Given the description of an element on the screen output the (x, y) to click on. 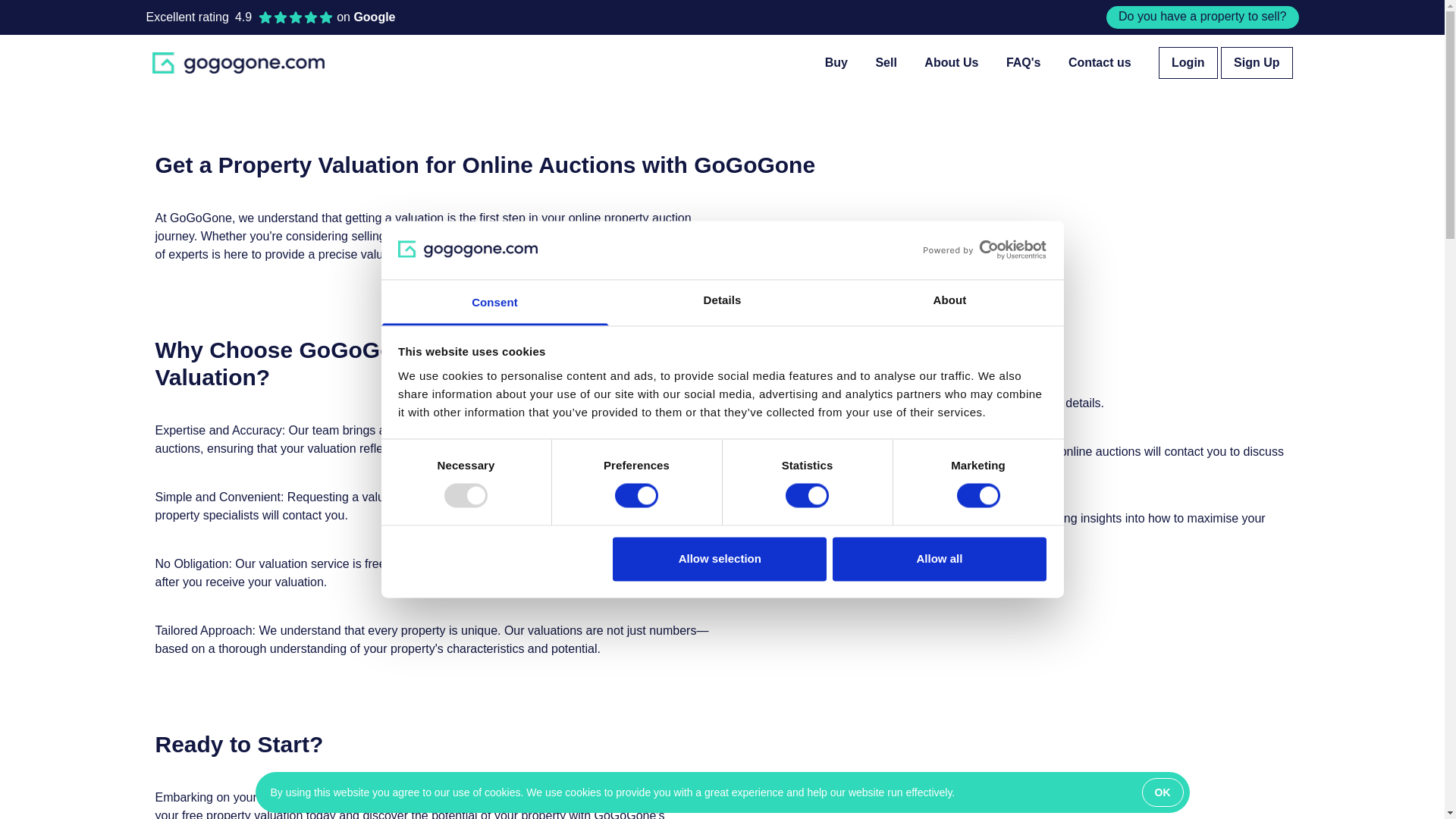
About (948, 302)
Consent (494, 302)
Allow all (939, 558)
Allow selection (719, 558)
Details (721, 302)
